Given the description of an element on the screen output the (x, y) to click on. 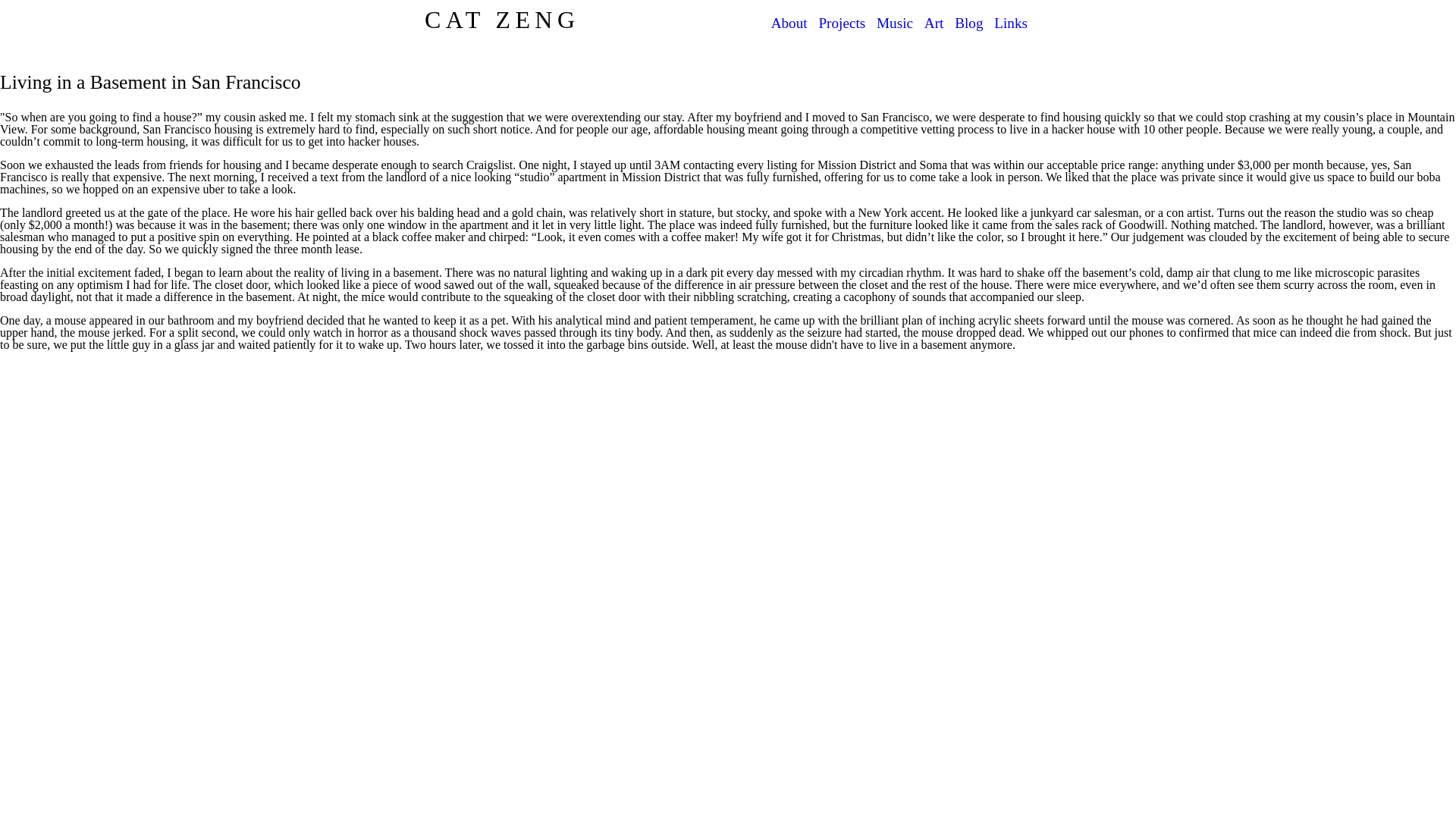
Music (894, 23)
Projects (841, 23)
Blog (968, 23)
Links (1010, 23)
About (789, 23)
Art (933, 23)
